Given the description of an element on the screen output the (x, y) to click on. 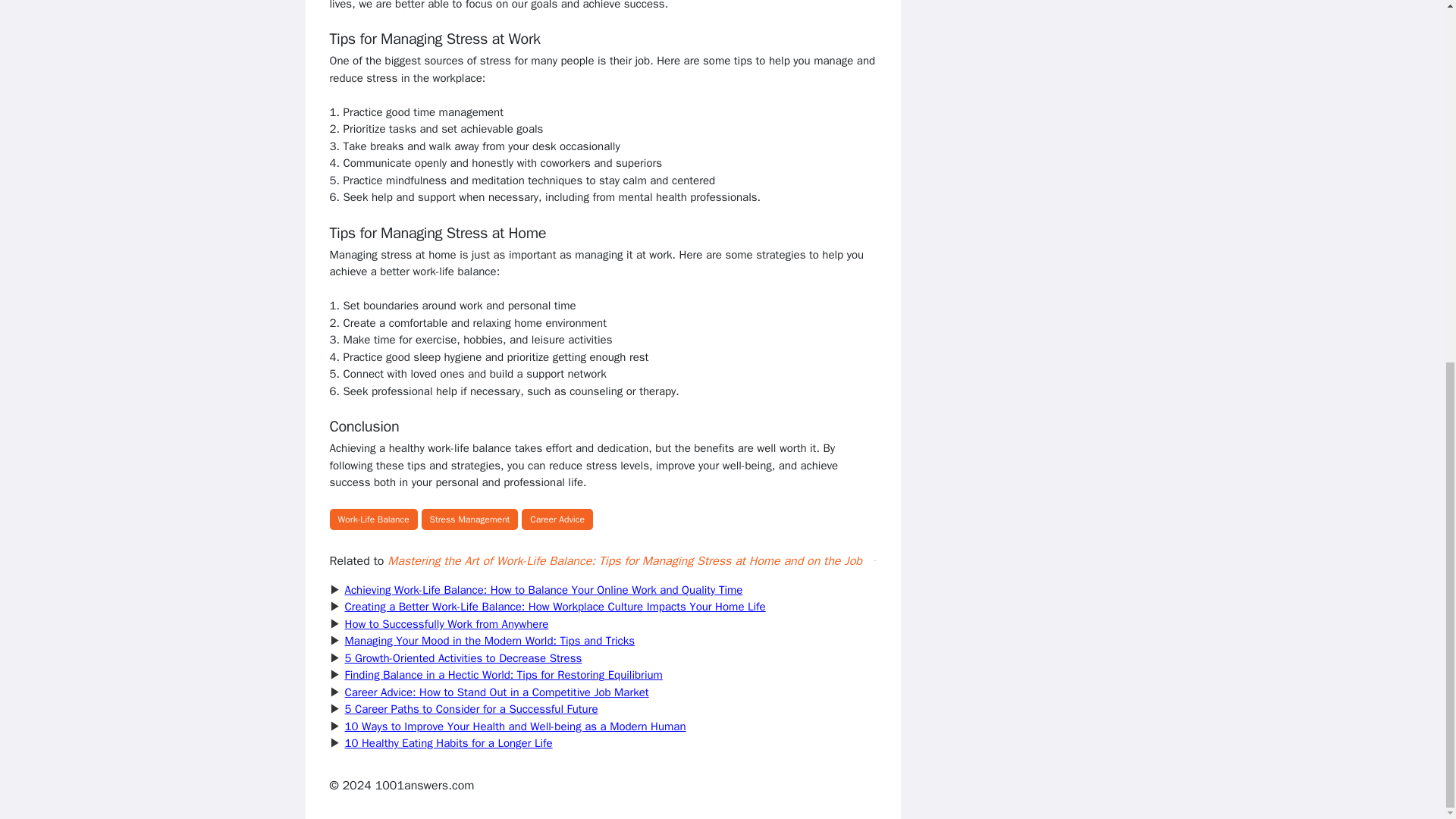
10 Healthy Eating Habits for a Longer Life (447, 743)
Work-Life Balance (372, 518)
5 Career Paths to Consider for a Successful Future (469, 708)
Career Advice: How to Stand Out in a Competitive Job Market (495, 692)
Stress Management (470, 518)
Career Advice (556, 518)
How to Successfully Work from Anywhere (445, 623)
5 Growth-Oriented Activities to Decrease Stress (461, 658)
Managing Your Mood in the Modern World: Tips and Tricks (488, 640)
